Given the description of an element on the screen output the (x, y) to click on. 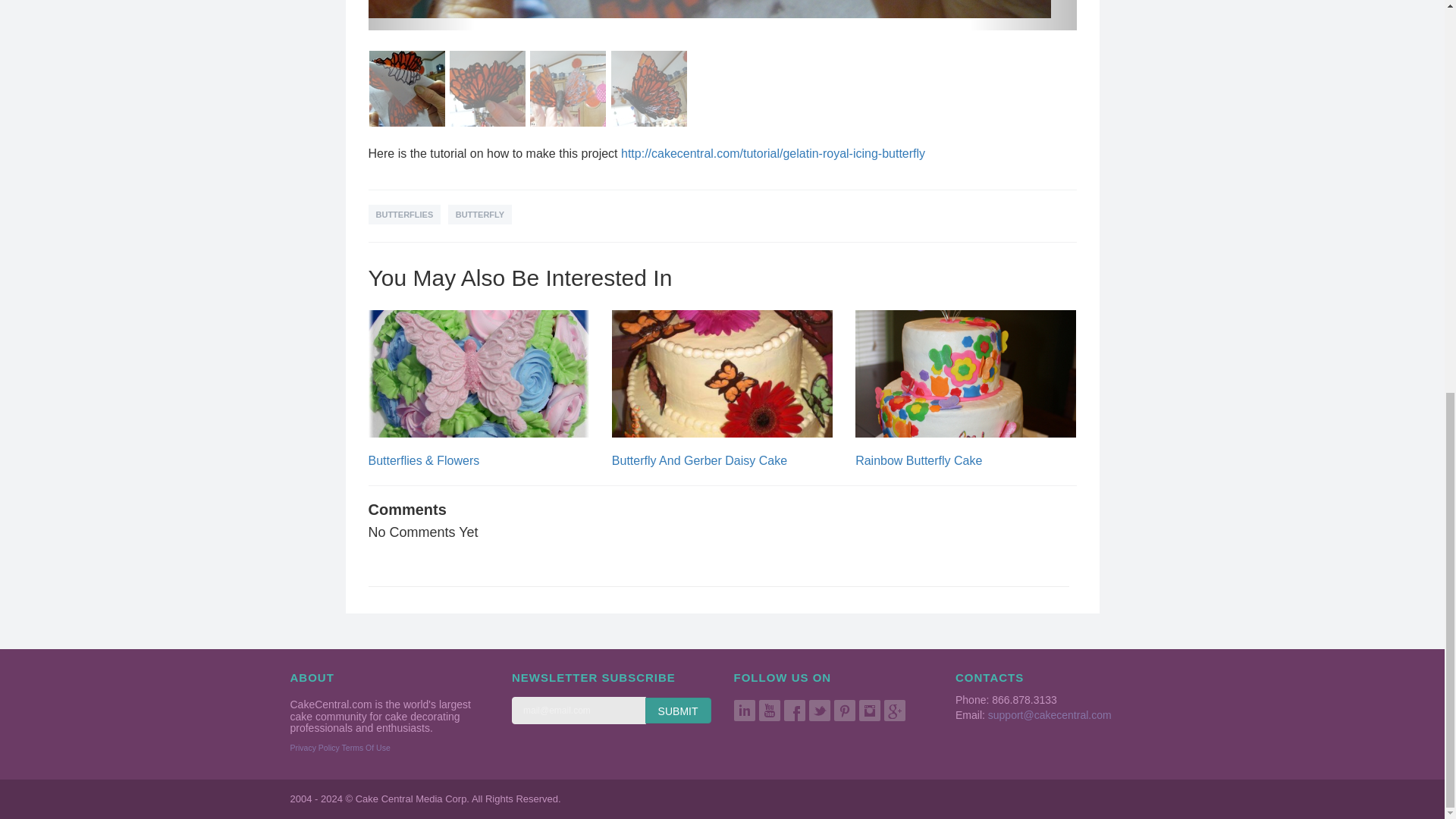
BUTTERFLY (480, 214)
BUTTERFLIES (404, 214)
Rainbow Butterfly Cake (918, 460)
Privacy Policy (314, 747)
Terms Of Use (366, 747)
SUBMIT (678, 710)
Butterfly And Gerber Daisy Cake (699, 460)
